Given the description of an element on the screen output the (x, y) to click on. 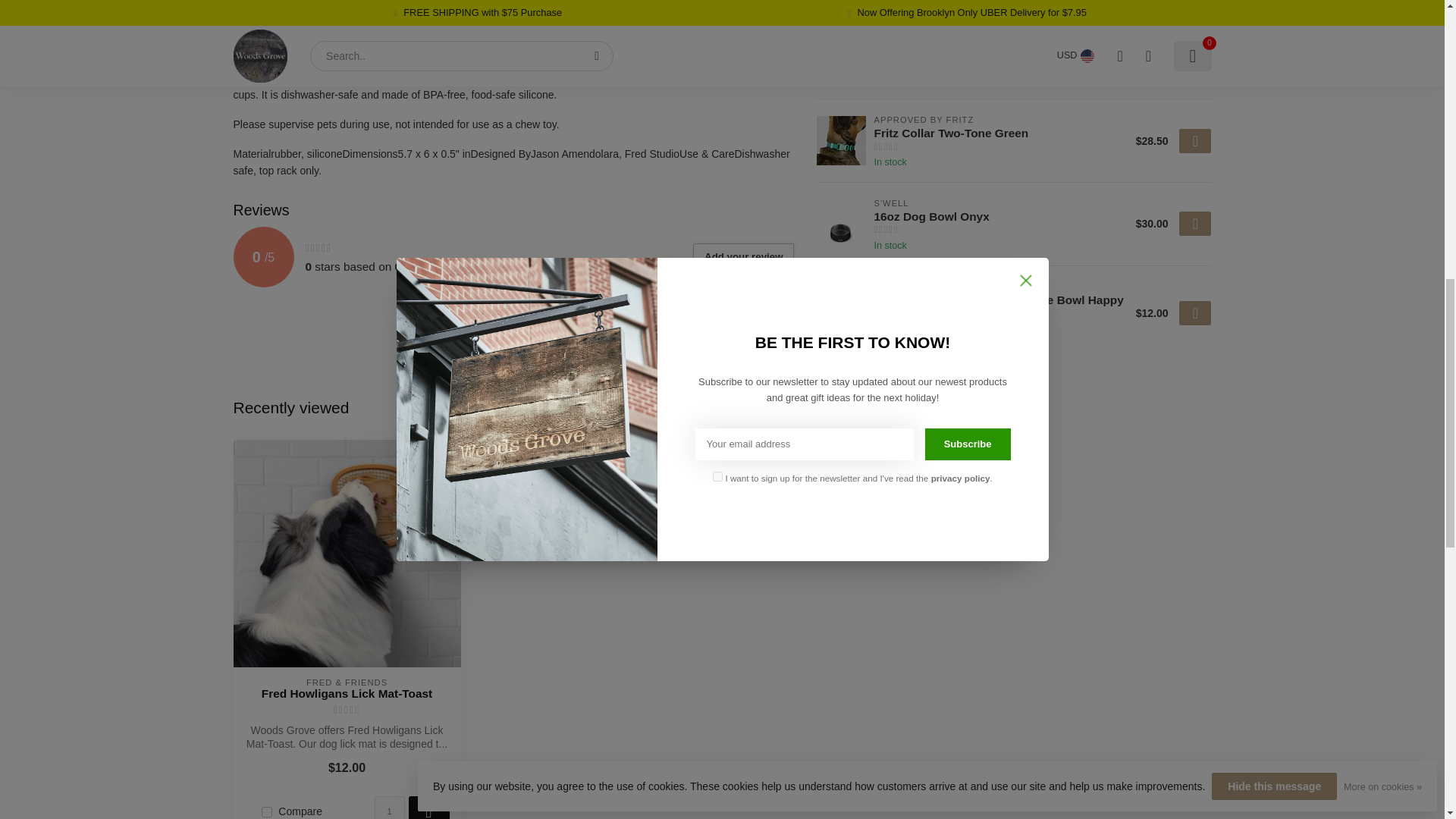
S'well 16oz Dog Bowl Onyx (841, 223)
1 (389, 807)
Approved By Fritz Fritz Collar Two-Tone Green (841, 140)
Approved By Fritz Fritz Harness Black Creamy (841, 56)
